Given the description of an element on the screen output the (x, y) to click on. 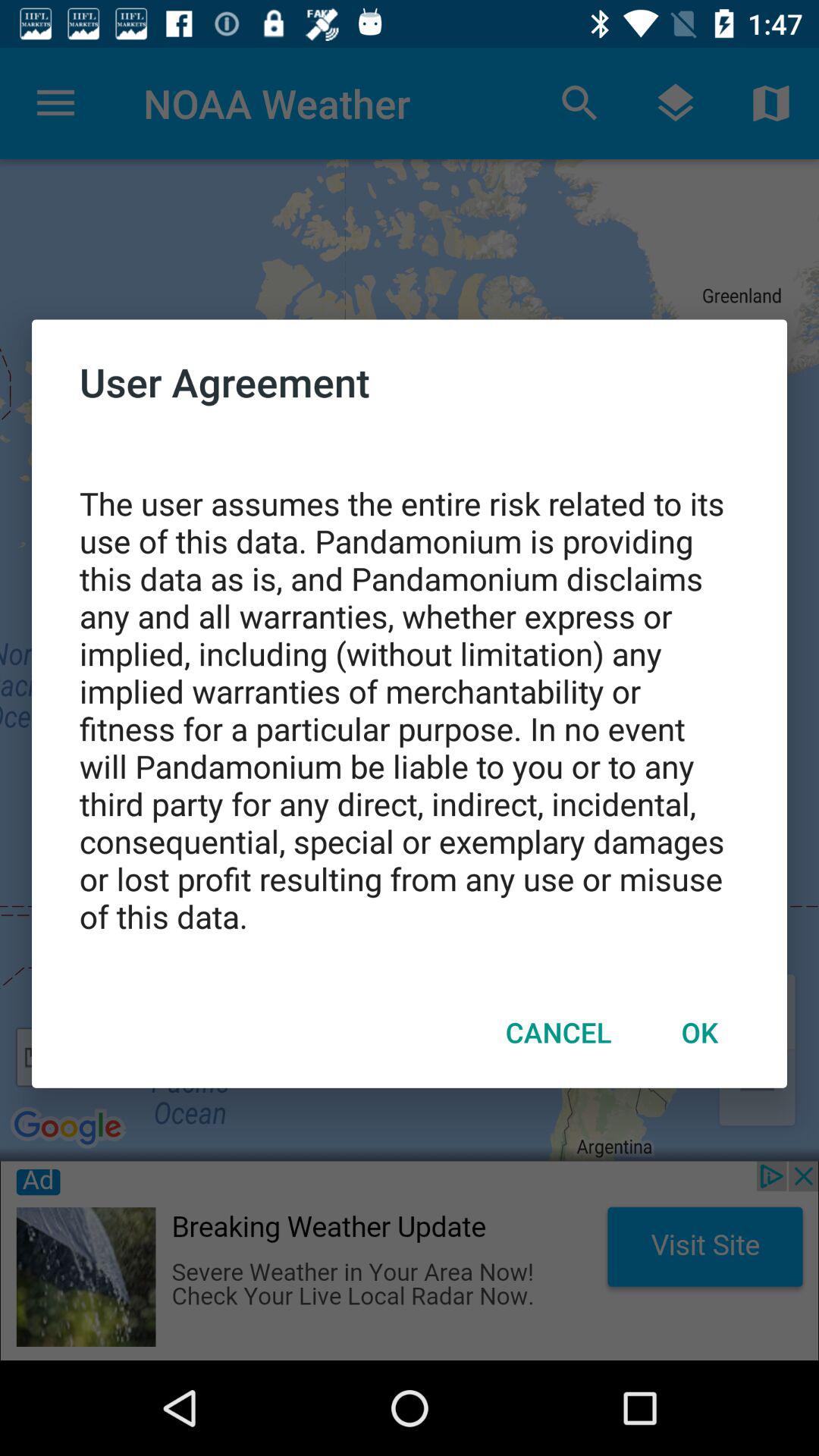
choose icon next to ok icon (558, 1032)
